Given the description of an element on the screen output the (x, y) to click on. 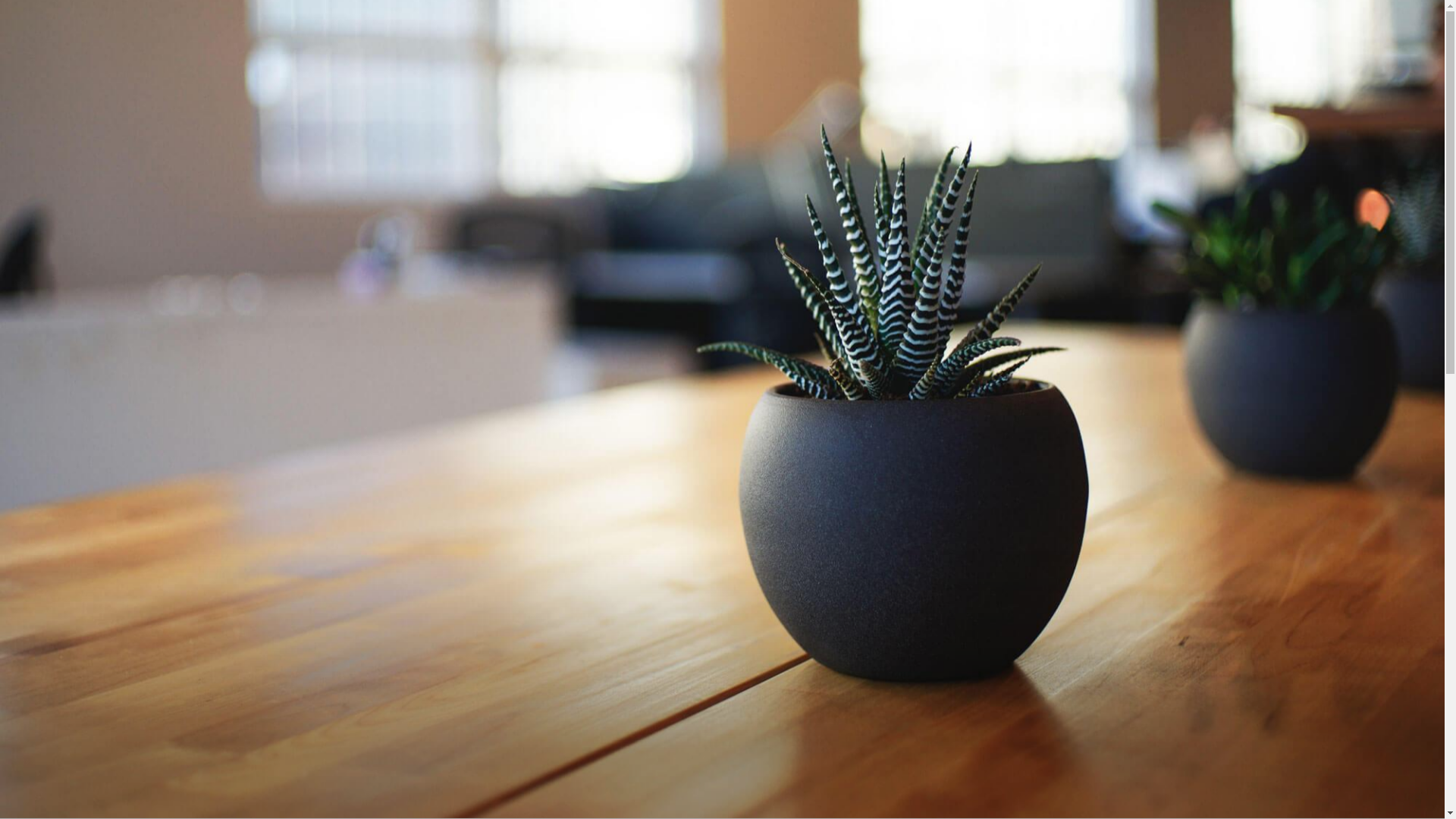
ALEXCHOI.CA Element type: text (487, 798)
